Given the description of an element on the screen output the (x, y) to click on. 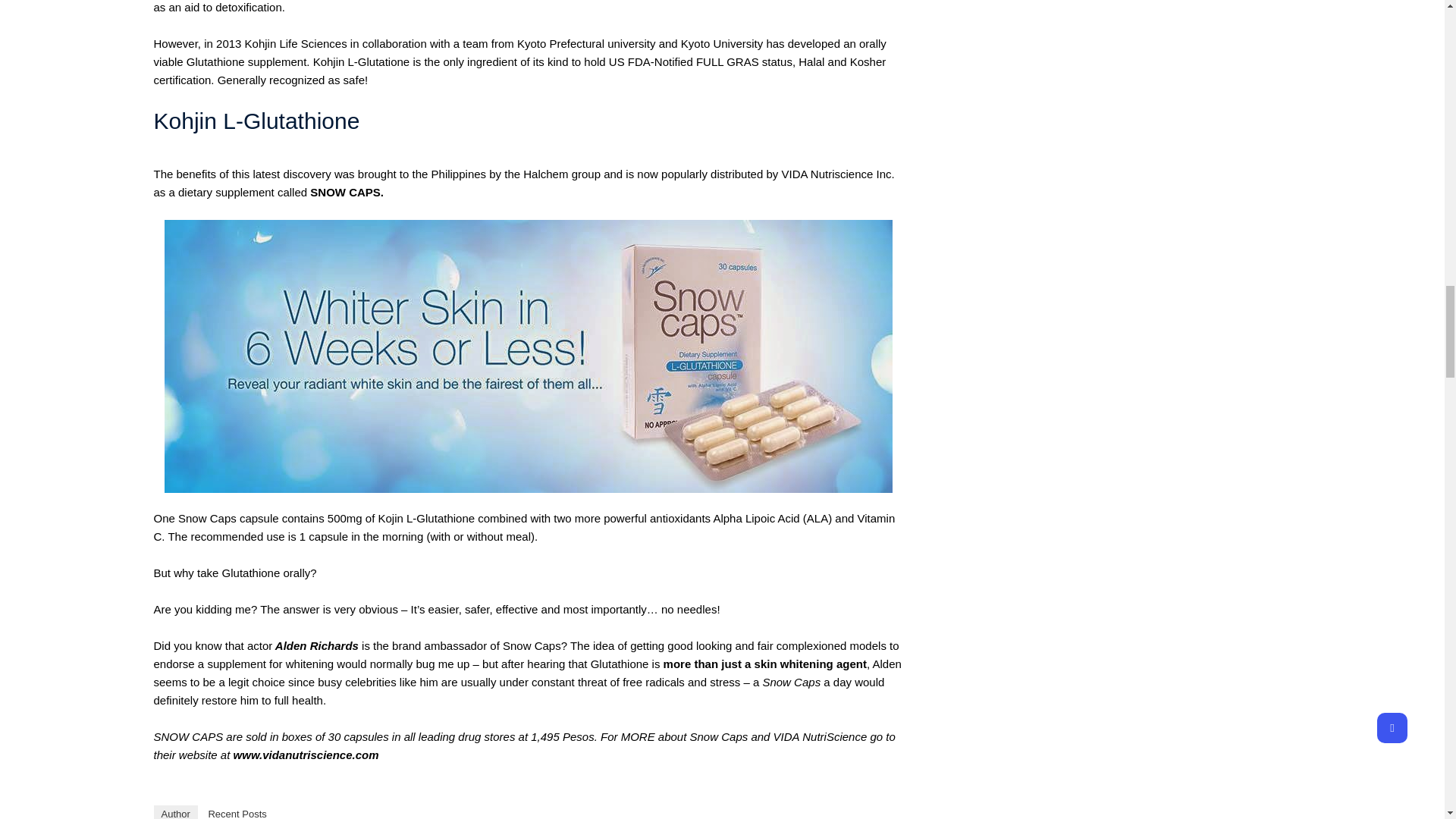
Author (174, 812)
Recent Posts (236, 812)
